Given the description of an element on the screen output the (x, y) to click on. 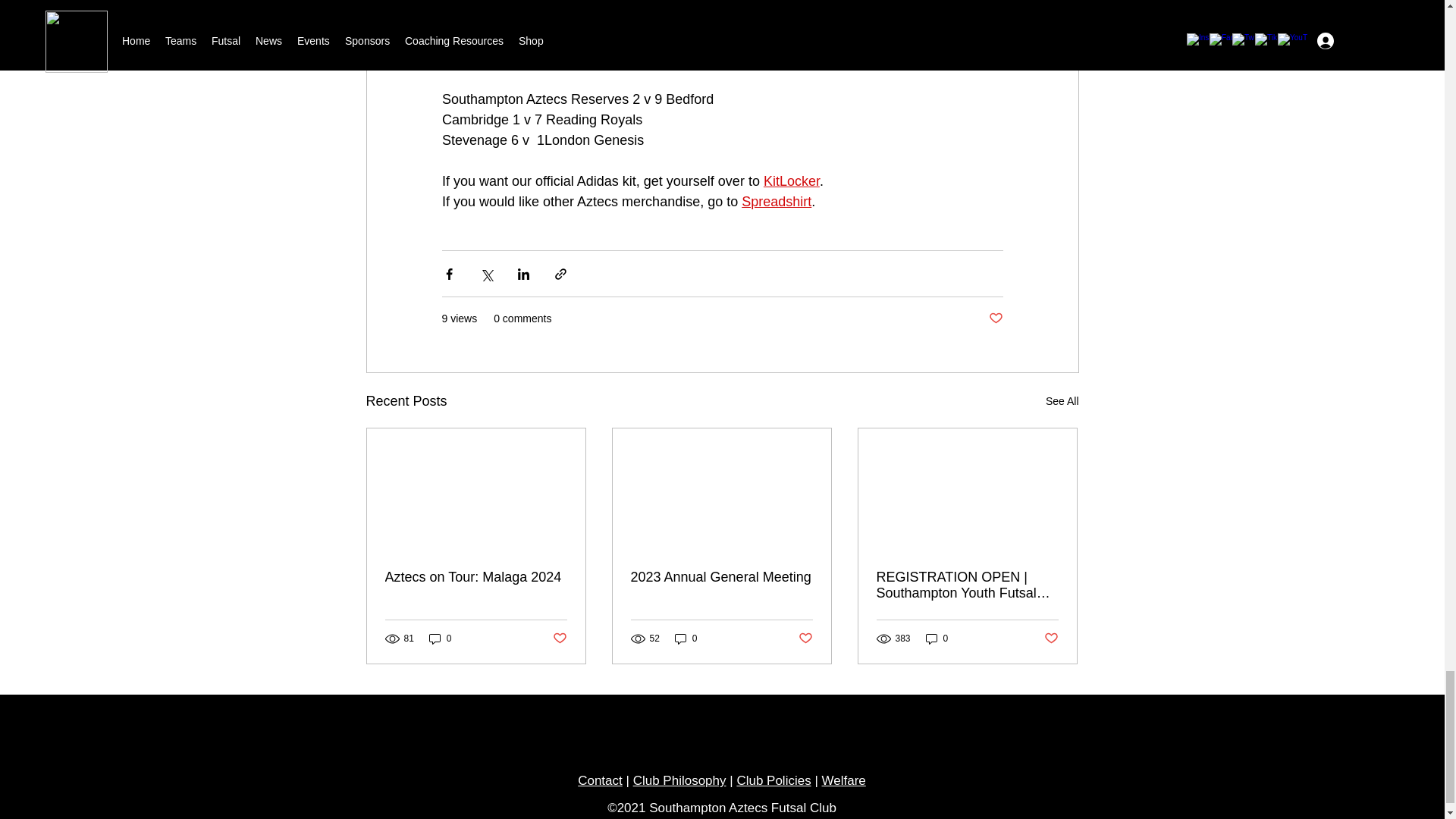
Post not marked as liked (995, 318)
See All (1061, 401)
Aztecs on Tour: Malaga 2024 (476, 577)
0 (440, 638)
KitLocker (790, 181)
Spreadshirt (775, 201)
